Given the description of an element on the screen output the (x, y) to click on. 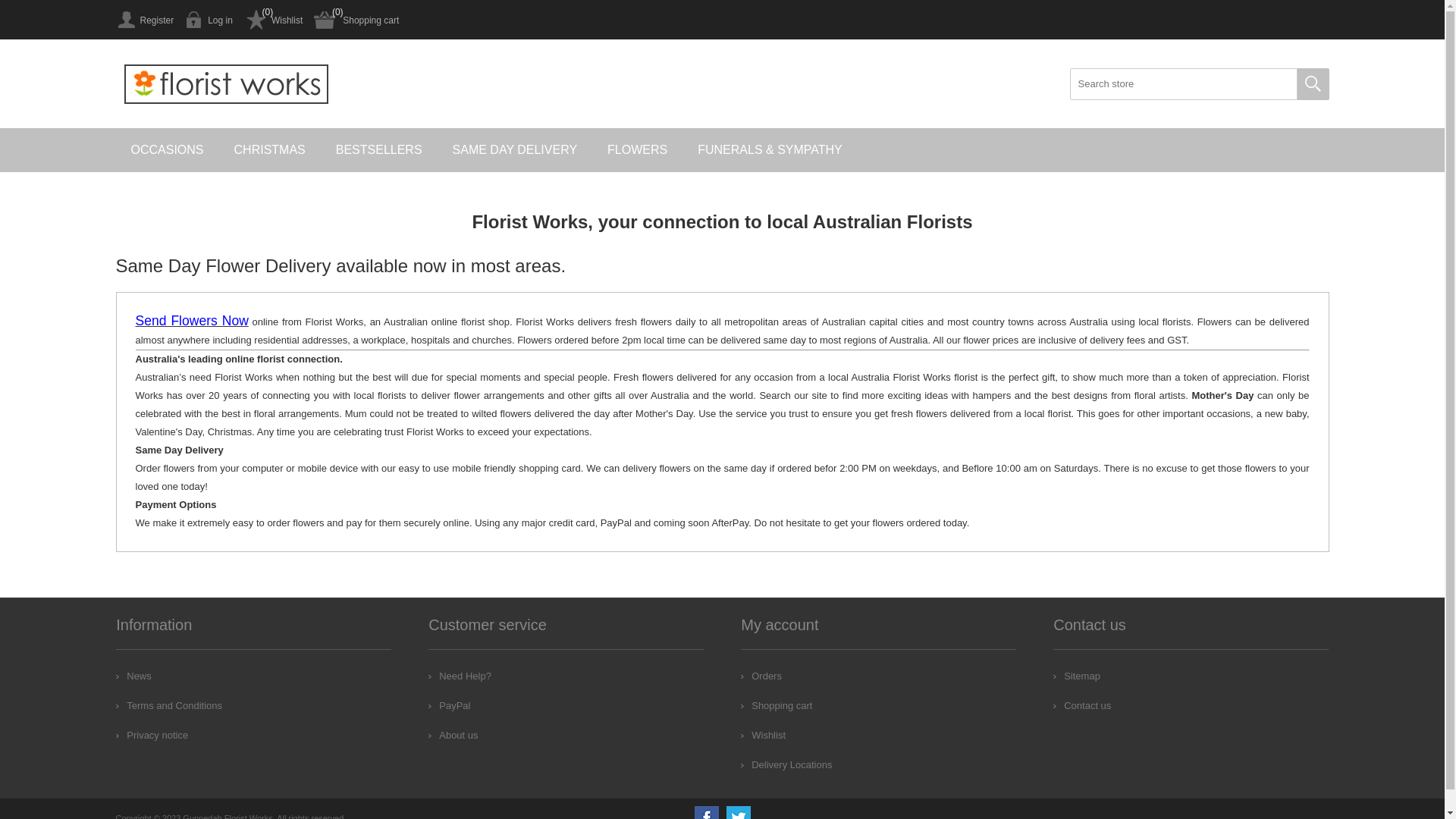
OCCASIONS Element type: text (166, 150)
News Element type: text (133, 675)
SAME DAY DELIVERY Element type: text (515, 150)
Log in Element type: text (208, 19)
Privacy notice Element type: text (152, 734)
Search Element type: text (1312, 84)
Delivery Locations Element type: text (785, 764)
Wishlist Element type: text (273, 19)
Sitemap Element type: text (1076, 675)
Wishlist Element type: text (762, 734)
Send Flowers Now Element type: text (190, 321)
BESTSELLERS Element type: text (378, 150)
PayPal Element type: text (449, 705)
Terms and Conditions Element type: text (169, 705)
Shopping cart Element type: text (776, 705)
FUNERALS & SYMPATHY Element type: text (769, 150)
Register Element type: text (144, 19)
Orders Element type: text (760, 675)
Need Help? Element type: text (459, 675)
FLOWERS Element type: text (637, 150)
Shopping cart Element type: text (355, 19)
About us Element type: text (452, 734)
Contact us Element type: text (1081, 705)
CHRISTMAS Element type: text (269, 150)
